Given the description of an element on the screen output the (x, y) to click on. 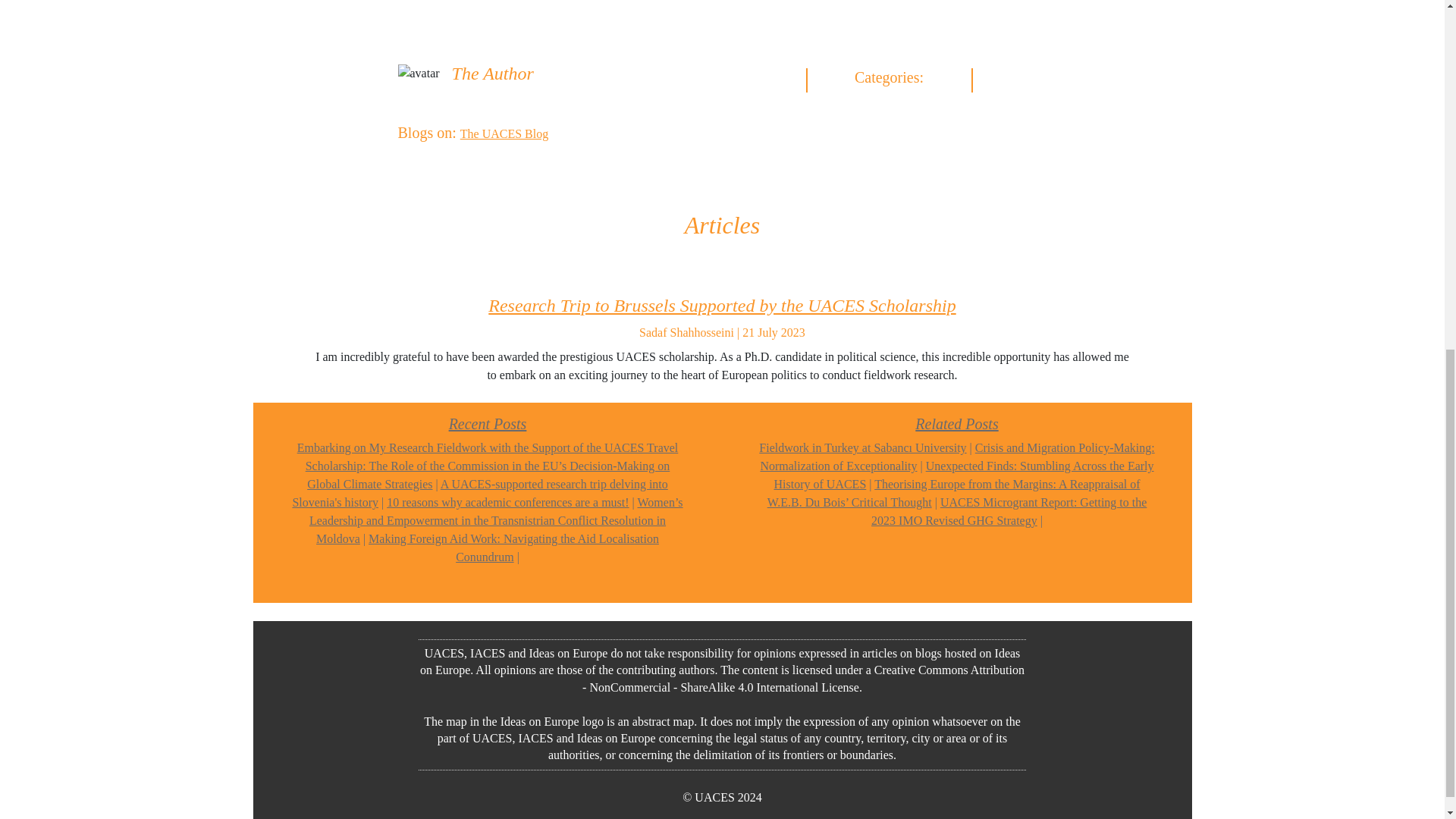
10 reasons why academic conferences are a must! (507, 502)
The UACES Blog (504, 133)
Research Trip to Brussels Supported by the UACES Scholarship (721, 305)
